Given the description of an element on the screen output the (x, y) to click on. 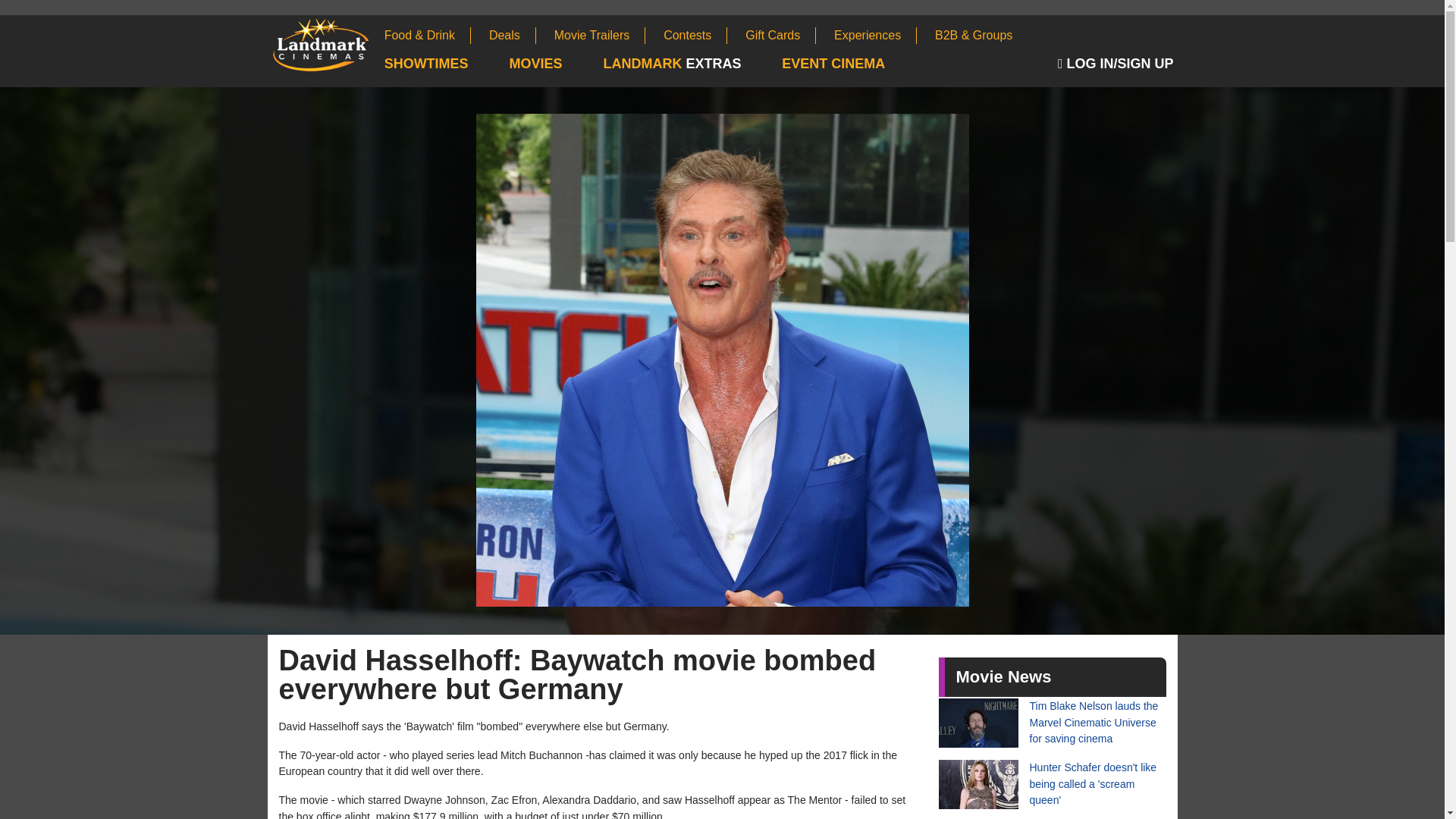
MOVIES (554, 64)
Landmark Extras (690, 64)
Buy Gift Cards (780, 35)
Movie Contests (694, 35)
LANDMARK EXTRAS (690, 64)
Watch Movie Trailers (600, 35)
Event Cinema (852, 64)
Movie Trailers (600, 35)
Gift Cards (780, 35)
Contests (694, 35)
Sign In to your Landmark Cinemas Account (1117, 64)
Check Local Showtimes (445, 64)
Browse Movies Now Playing (554, 64)
